Given the description of an element on the screen output the (x, y) to click on. 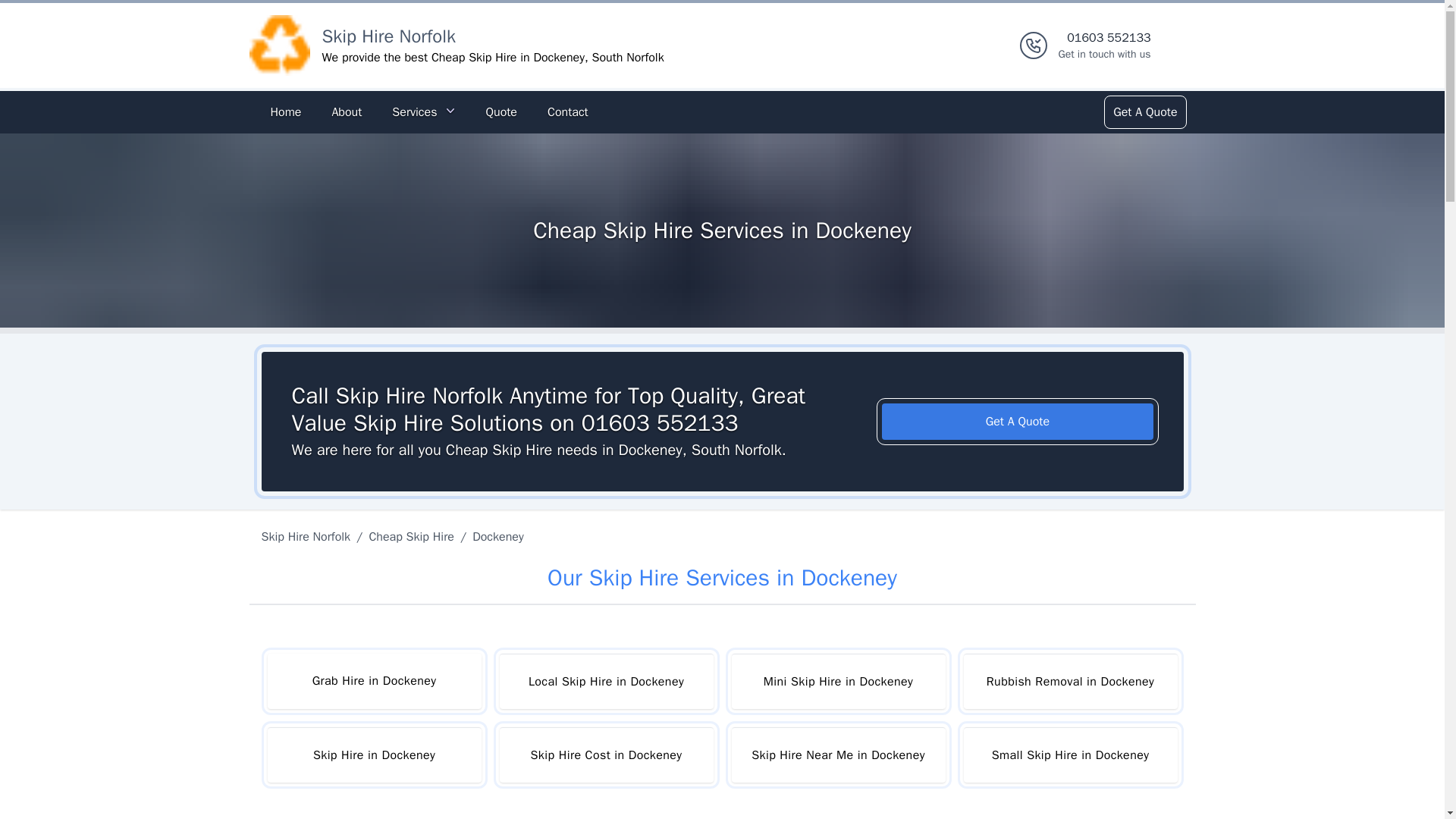
Get A Quote (1017, 421)
Mini Skip Hire in Dockeney (837, 681)
About (346, 112)
Services (423, 112)
Small Skip Hire in Dockeney (1069, 754)
Logo (278, 45)
Skip Hire Near Me in Dockeney (837, 754)
Cheap Skip Hire (411, 536)
Contact (567, 112)
Get A Quote (1144, 112)
Skip Hire Cost in Dockeney (1104, 45)
Grab Hire in Dockeney (606, 754)
Local Skip Hire in Dockeney (373, 681)
Rubbish Removal in Dockeney (606, 681)
